Given the description of an element on the screen output the (x, y) to click on. 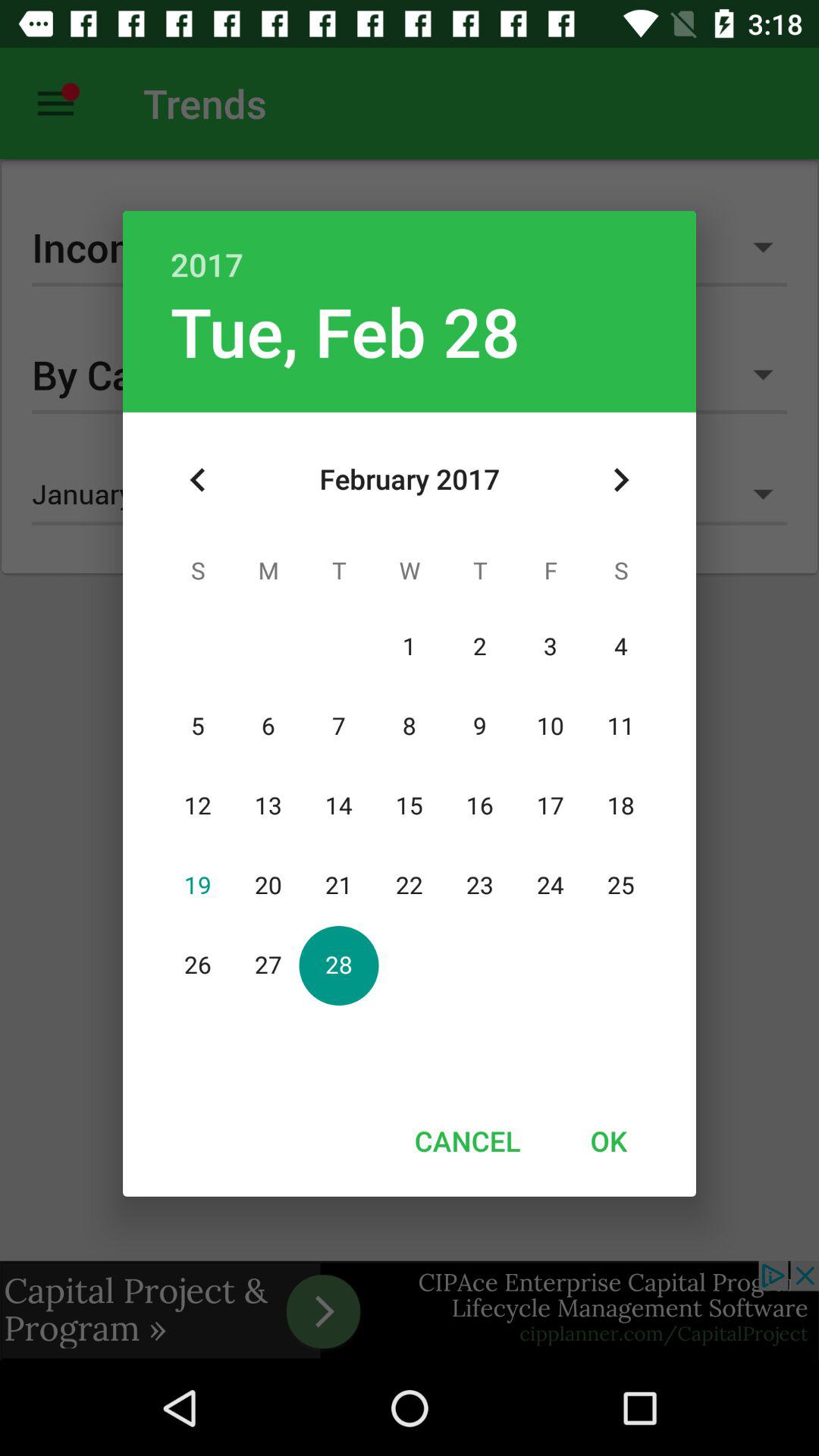
turn off cancel icon (467, 1140)
